Given the description of an element on the screen output the (x, y) to click on. 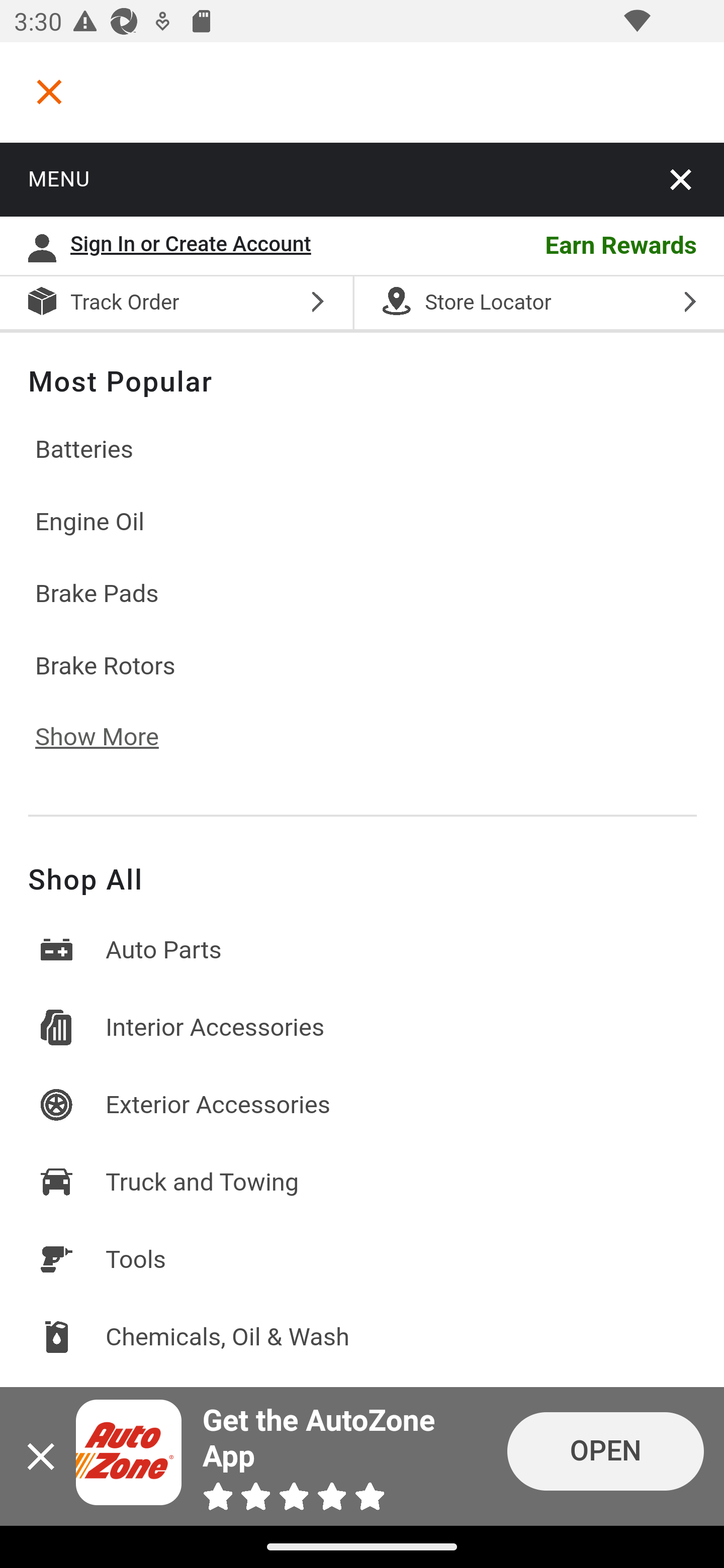
 (49, 91)
close (681, 179)
Sign In or Create Account (196, 246)
Earn Rewards (530, 246)
Track Order Track Order Track Order (176, 302)
Store Locator (538, 302)
Track Order (125, 303)
Search (63, 382)
Batteries Batteries Batteries (362, 450)
Engine Oil (362, 521)
Brake Pads (362, 594)
Brake Rotors (362, 665)
Show More (110, 737)
Auto Parts (362, 949)
Interior Accessories (362, 1026)
Exterior Accessories (362, 1104)
Truck and Towing (362, 1182)
Tools (362, 1259)
Chemicals, Oil & Wash (362, 1337)
Close icon Get the AutoZone App OPEN (362, 1456)
